Given the description of an element on the screen output the (x, y) to click on. 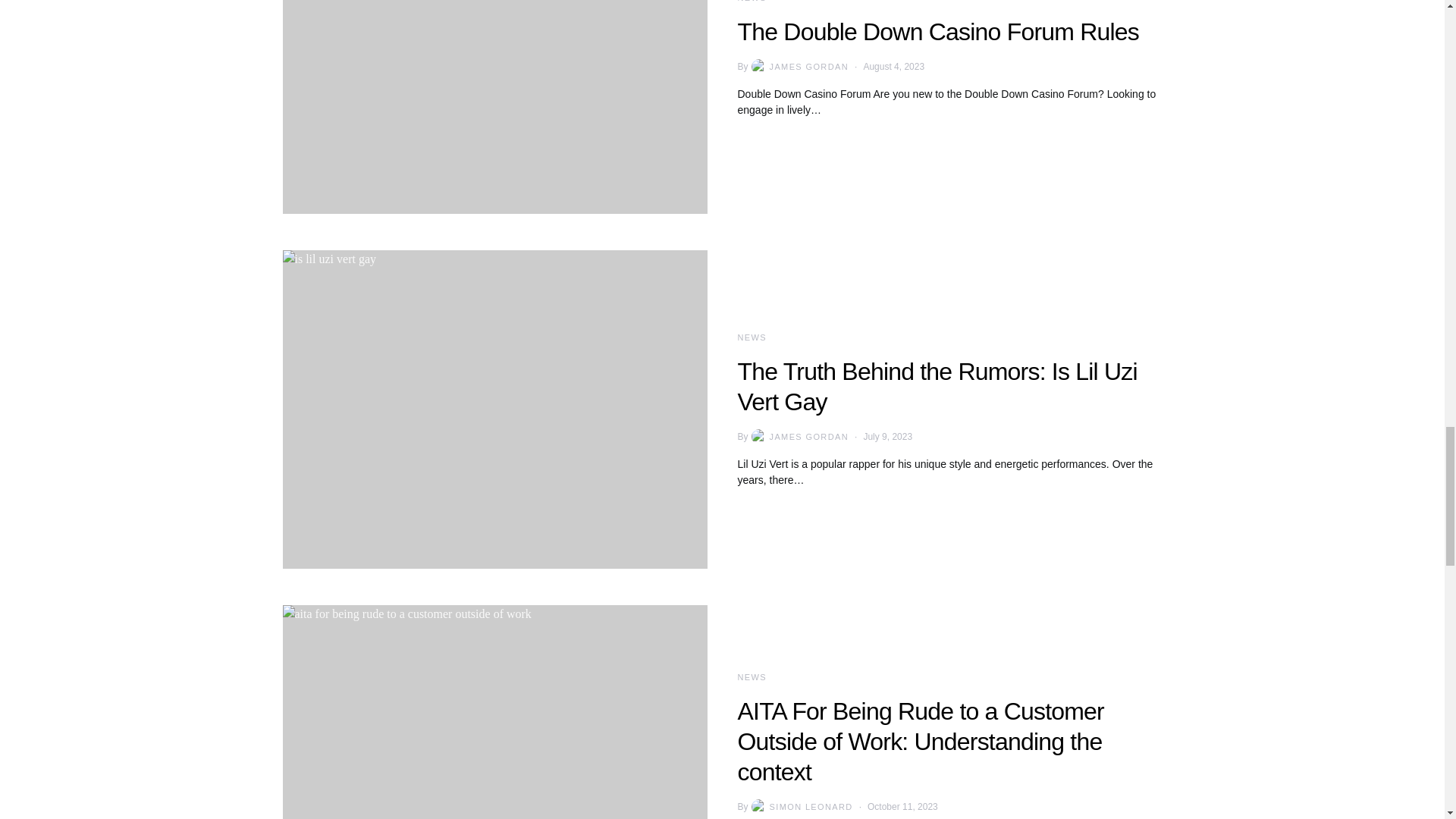
View all posts by James Gordan (798, 66)
View all posts by James Gordan (798, 436)
View all posts by Simon Leonard (800, 806)
